Given the description of an element on the screen output the (x, y) to click on. 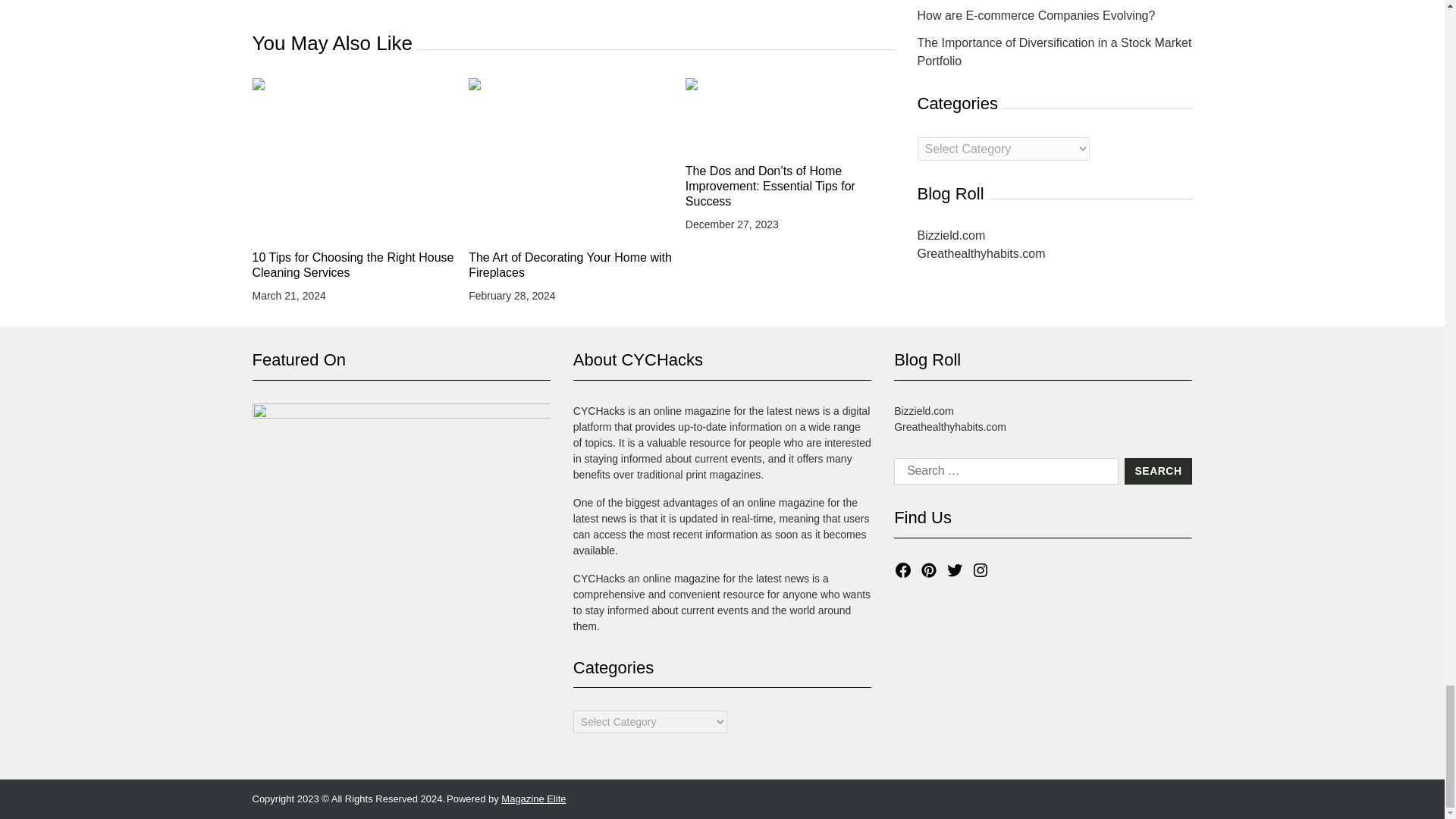
Search (1158, 471)
Search (1158, 471)
